Given the description of an element on the screen output the (x, y) to click on. 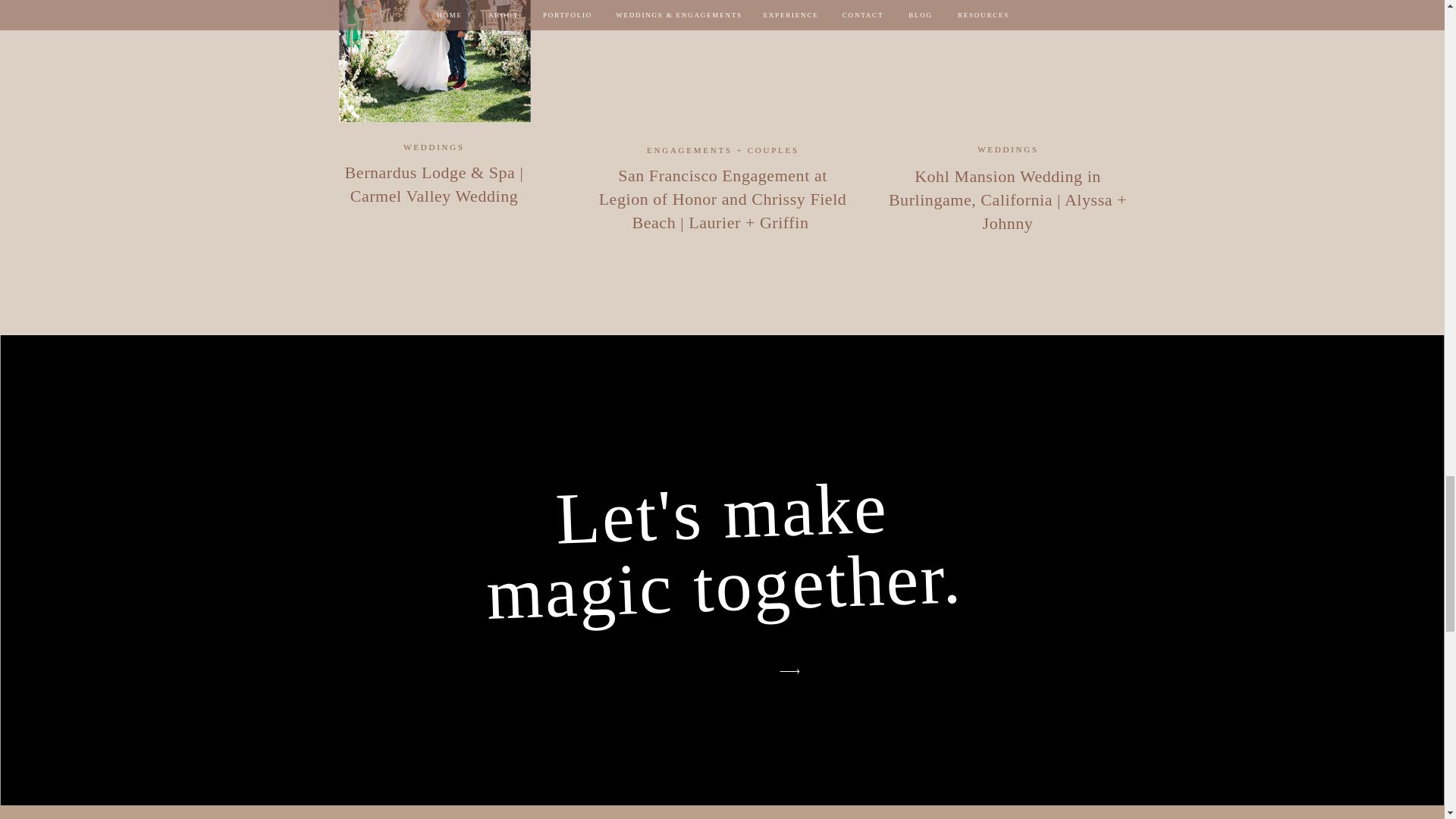
arrow (789, 671)
